Given the description of an element on the screen output the (x, y) to click on. 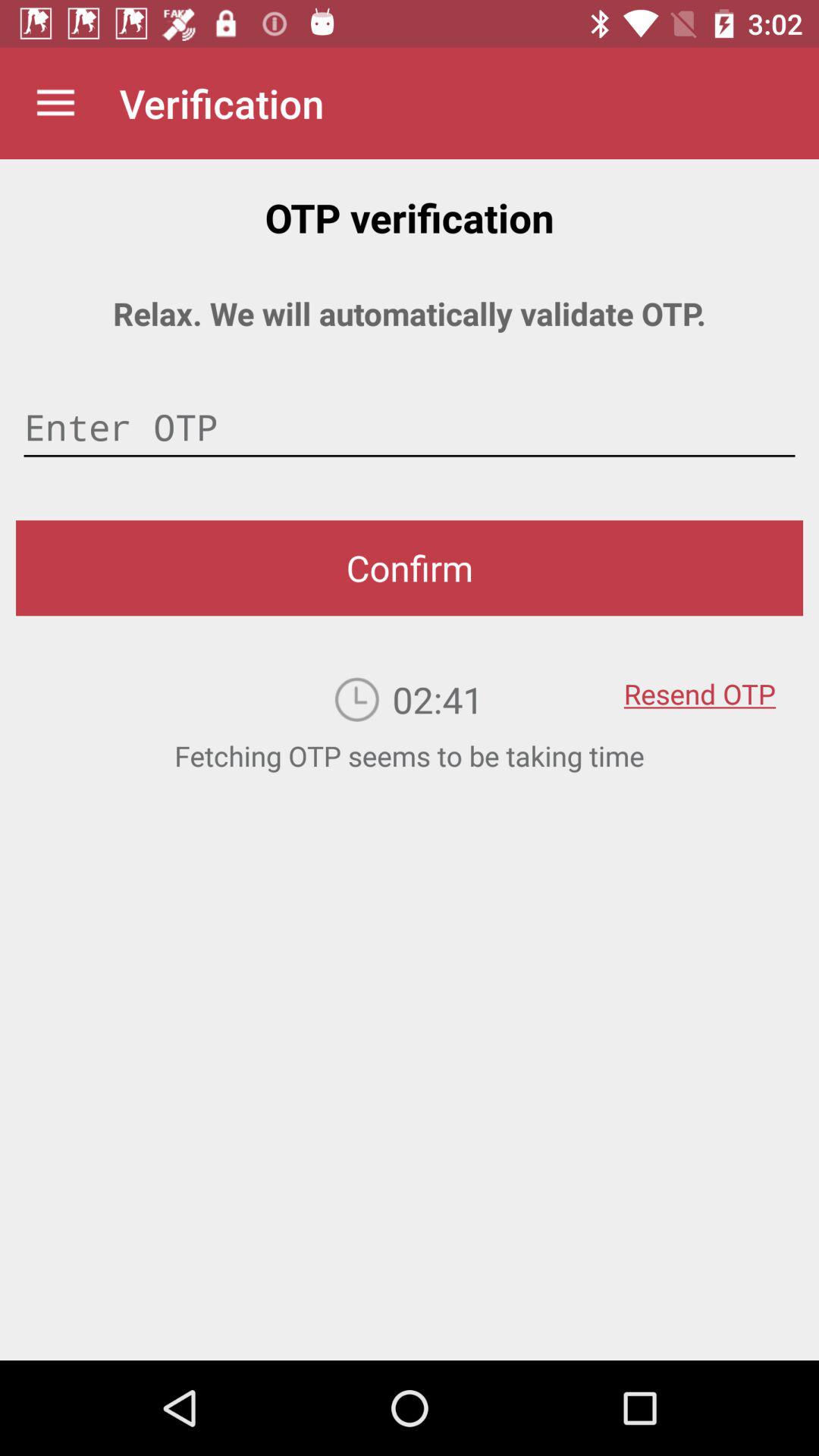
open the item next to verification item (55, 103)
